Given the description of an element on the screen output the (x, y) to click on. 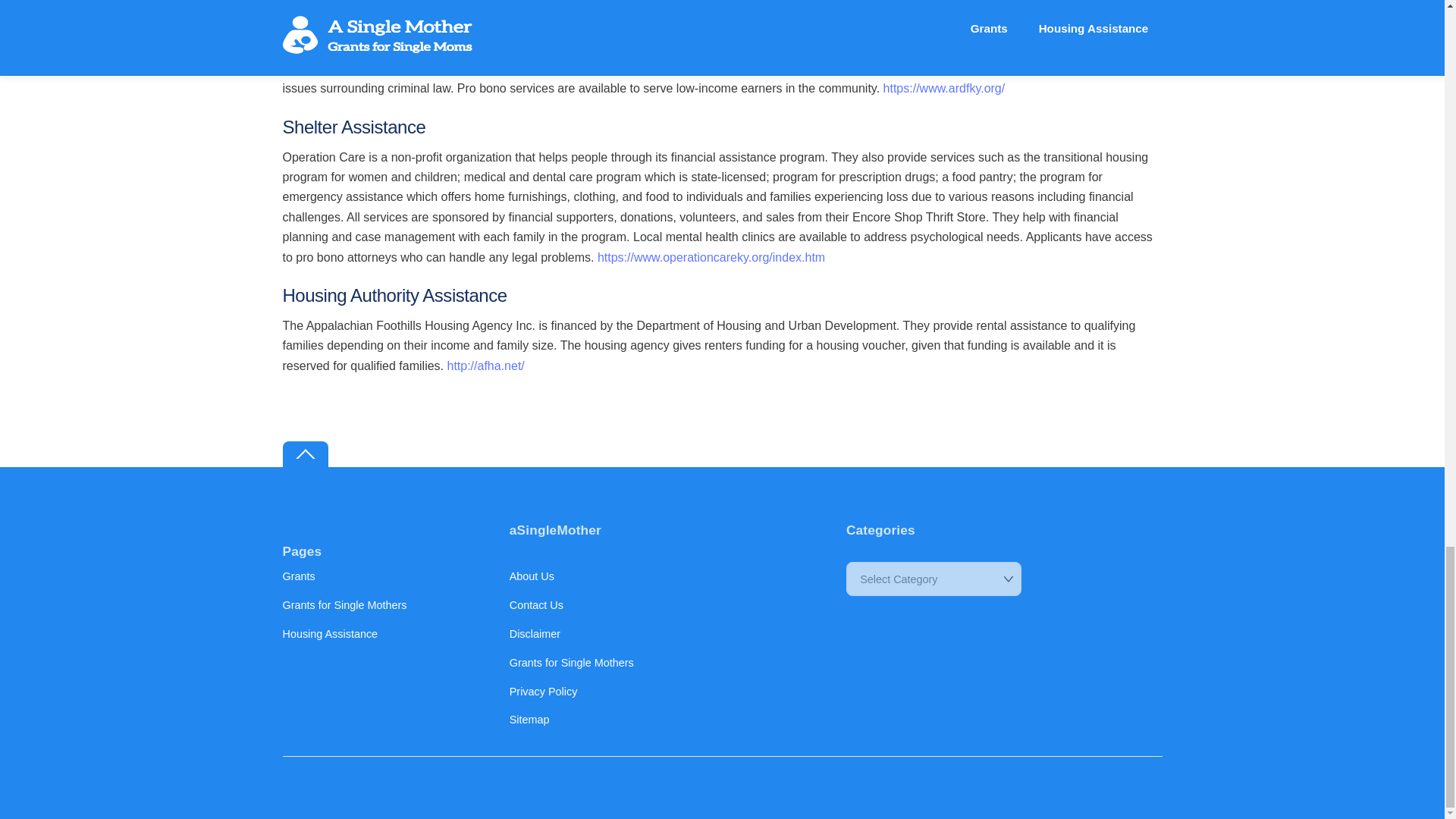
Back To Top (304, 454)
Disclaimer (534, 633)
Grants for Single Mothers (571, 662)
Housing Assistance (329, 633)
Grants for Single Mothers (344, 604)
Privacy Policy (543, 691)
About Us (531, 576)
Sitemap (529, 719)
Contact Us (536, 604)
Grants (298, 576)
